Given the description of an element on the screen output the (x, y) to click on. 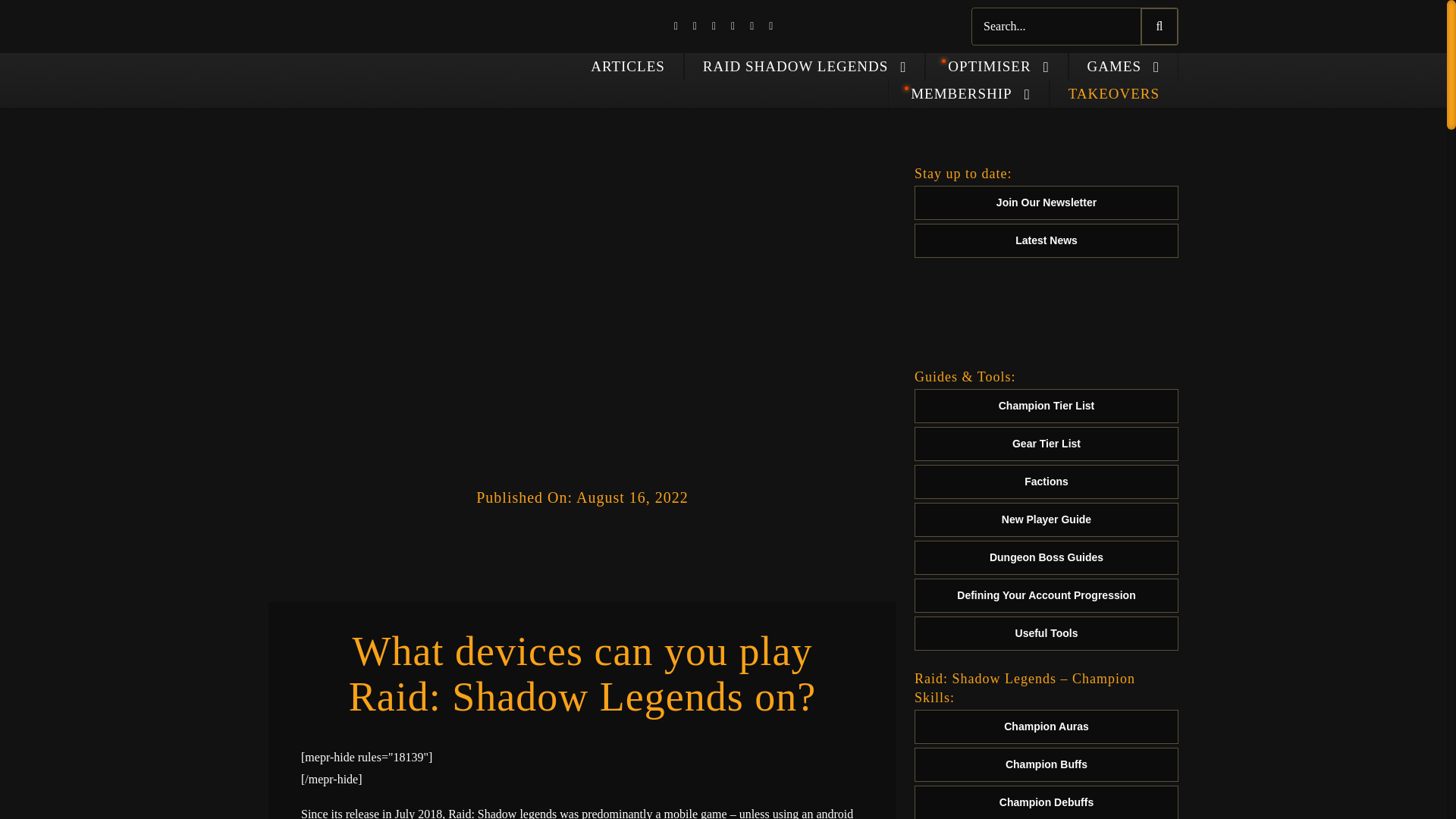
ARTICLES (628, 66)
RAID SHADOW LEGENDS (805, 66)
